Given the description of an element on the screen output the (x, y) to click on. 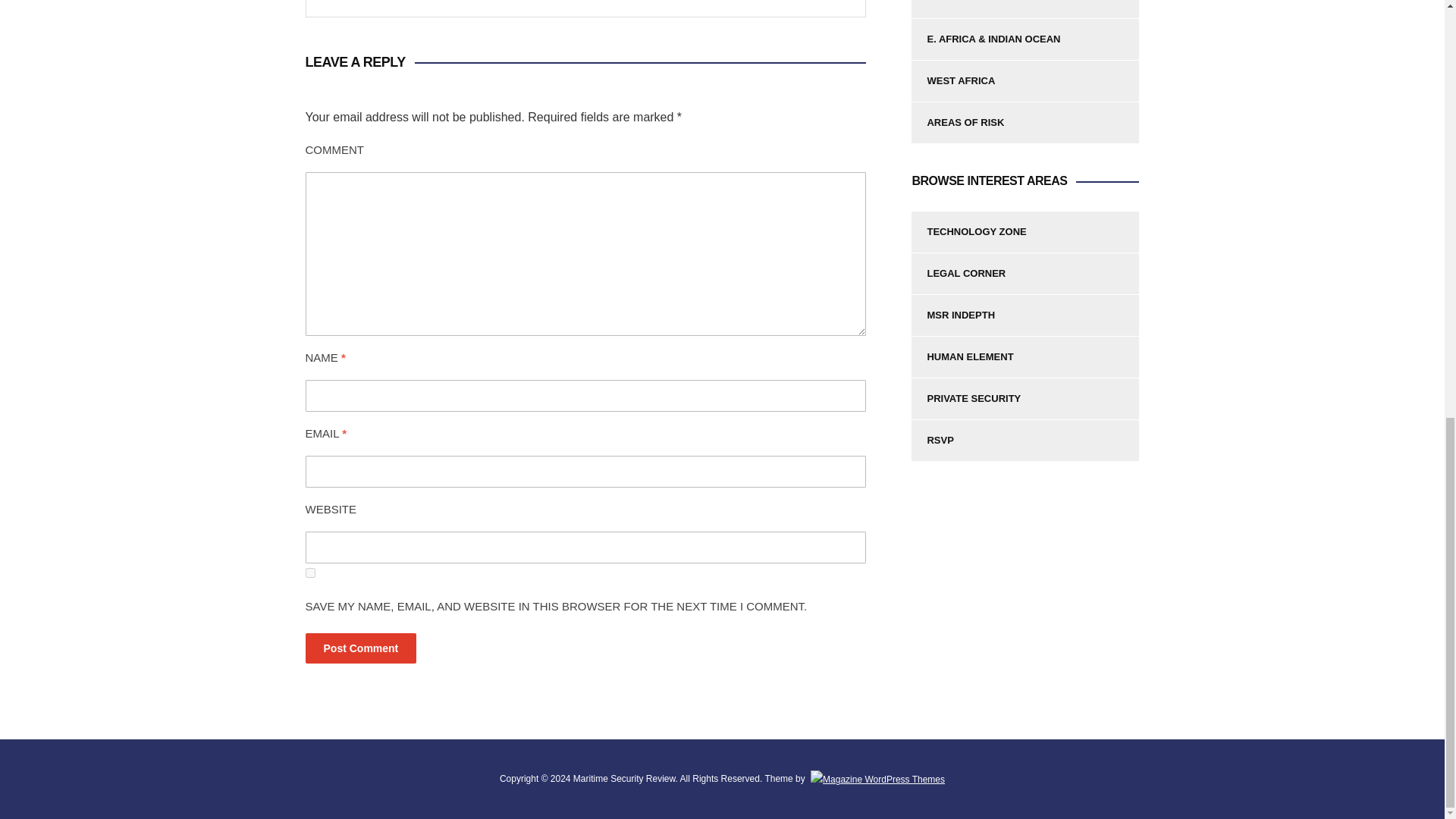
Post Comment (360, 648)
Free WordPress Themes (876, 778)
yes (309, 573)
